Given the description of an element on the screen output the (x, y) to click on. 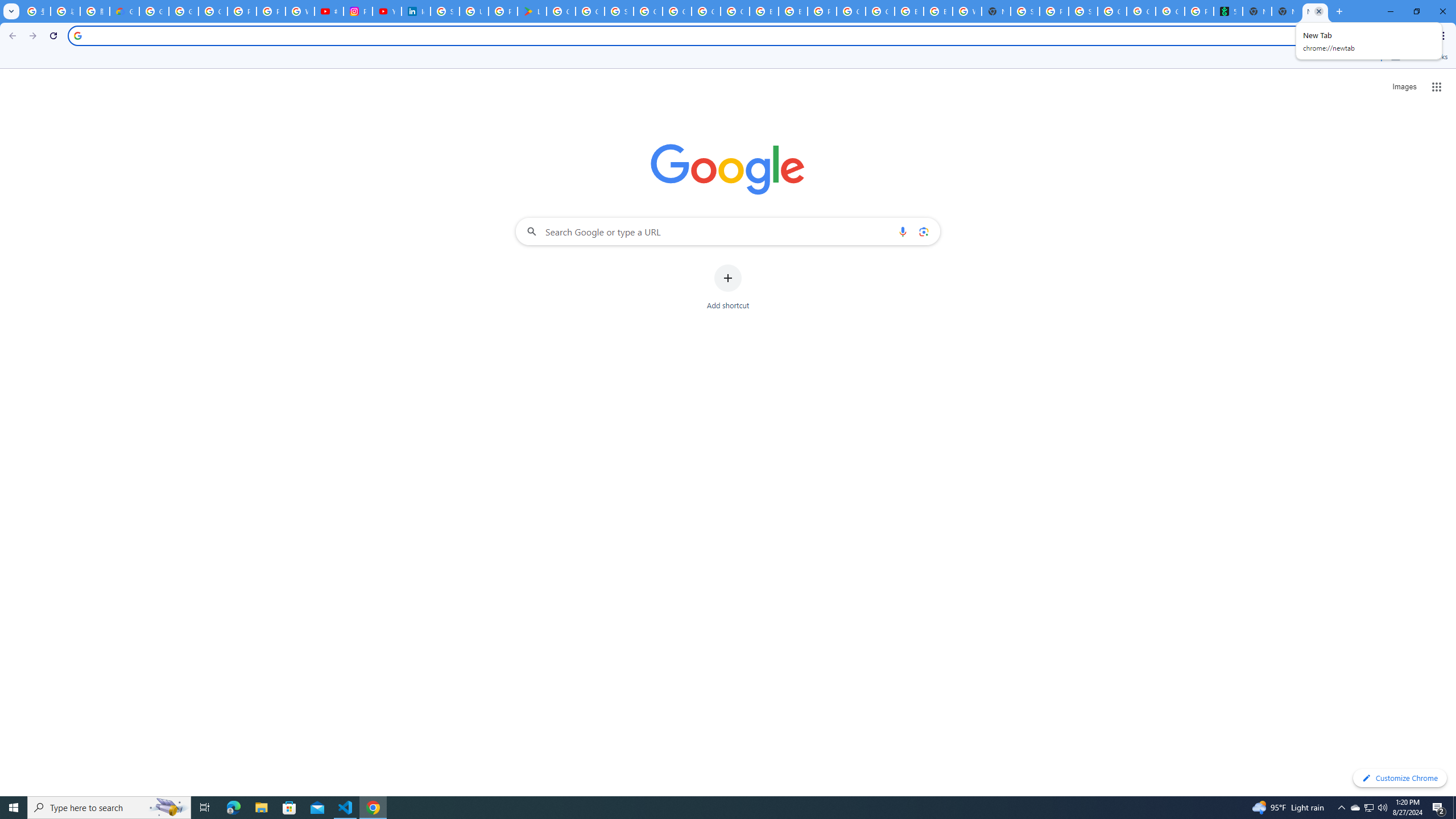
Search for Images  (1403, 87)
Google Cloud Platform (879, 11)
Privacy Help Center - Policies Help (271, 11)
YouTube Culture & Trends - On The Rise: Handcam Videos (386, 11)
